Given the description of an element on the screen output the (x, y) to click on. 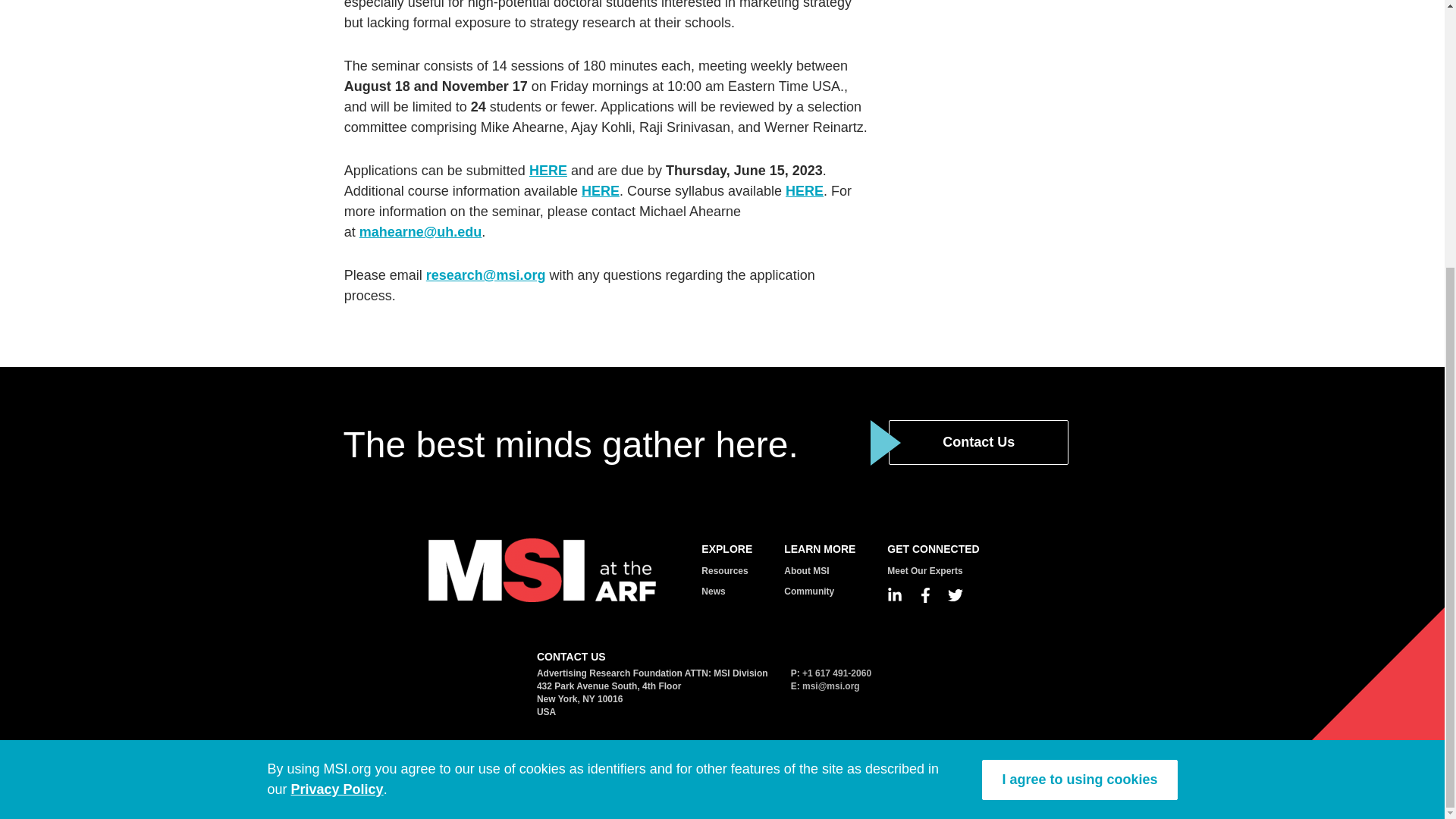
About MSI (806, 570)
Resources (724, 570)
EXPLORE (726, 548)
News (713, 591)
LEARN MORE (820, 548)
HERE (548, 170)
HERE (805, 191)
Contact Us (978, 442)
HERE (600, 191)
